Given the description of an element on the screen output the (x, y) to click on. 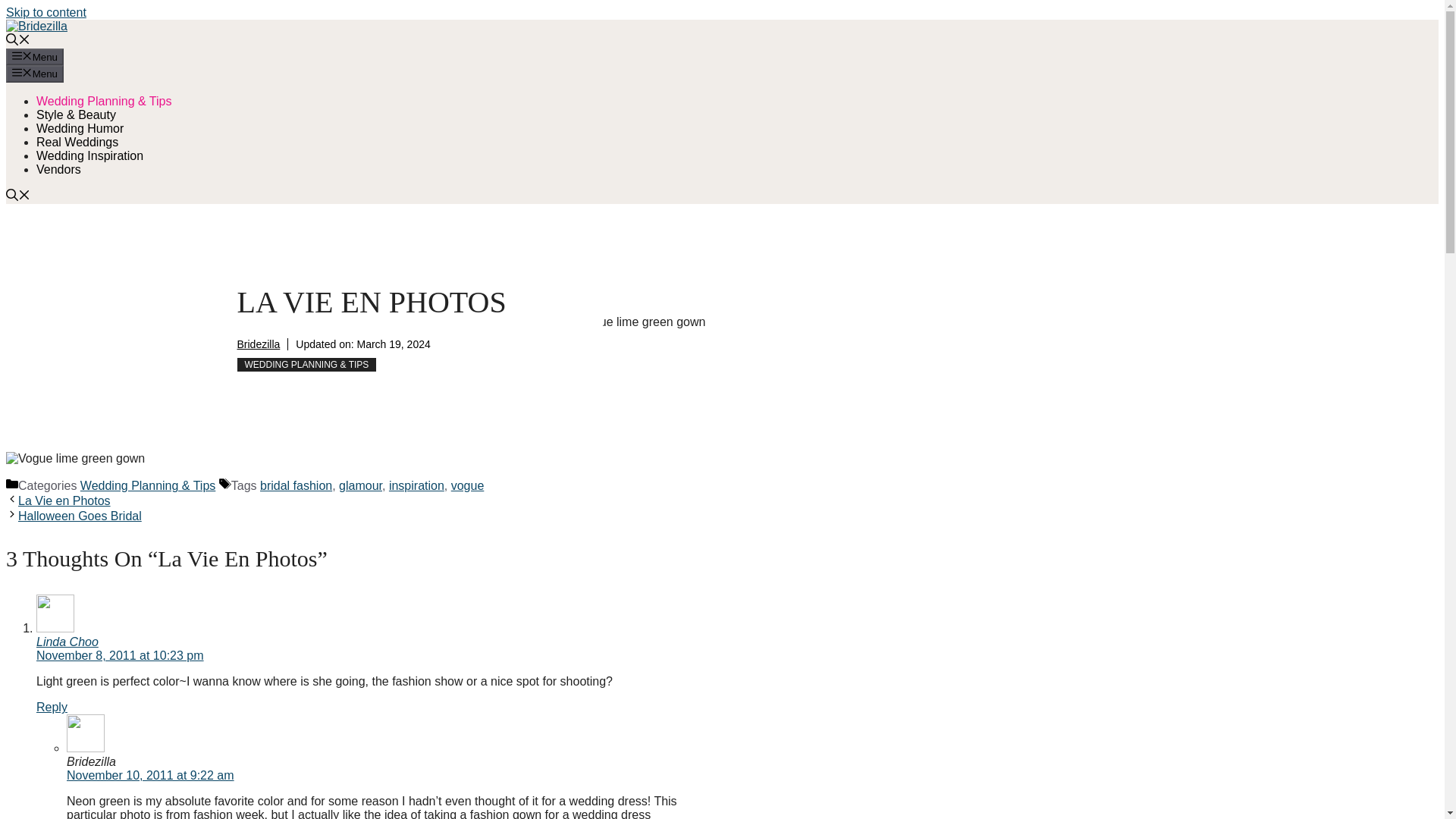
inspiration (416, 485)
Menu (34, 56)
vogue (467, 485)
Halloween Goes Bridal (79, 515)
bridal fashion (295, 485)
Wedding Inspiration (89, 155)
Bridezilla (257, 344)
vogue-fashion-week-behind-the-scenes (74, 459)
Wedding Humor (79, 128)
Skip to content (45, 11)
Reply (51, 707)
November 8, 2011 at 10:23 pm (119, 655)
Vendors (58, 169)
Menu (34, 73)
November 10, 2011 at 9:22 am (150, 775)
